Given the description of an element on the screen output the (x, y) to click on. 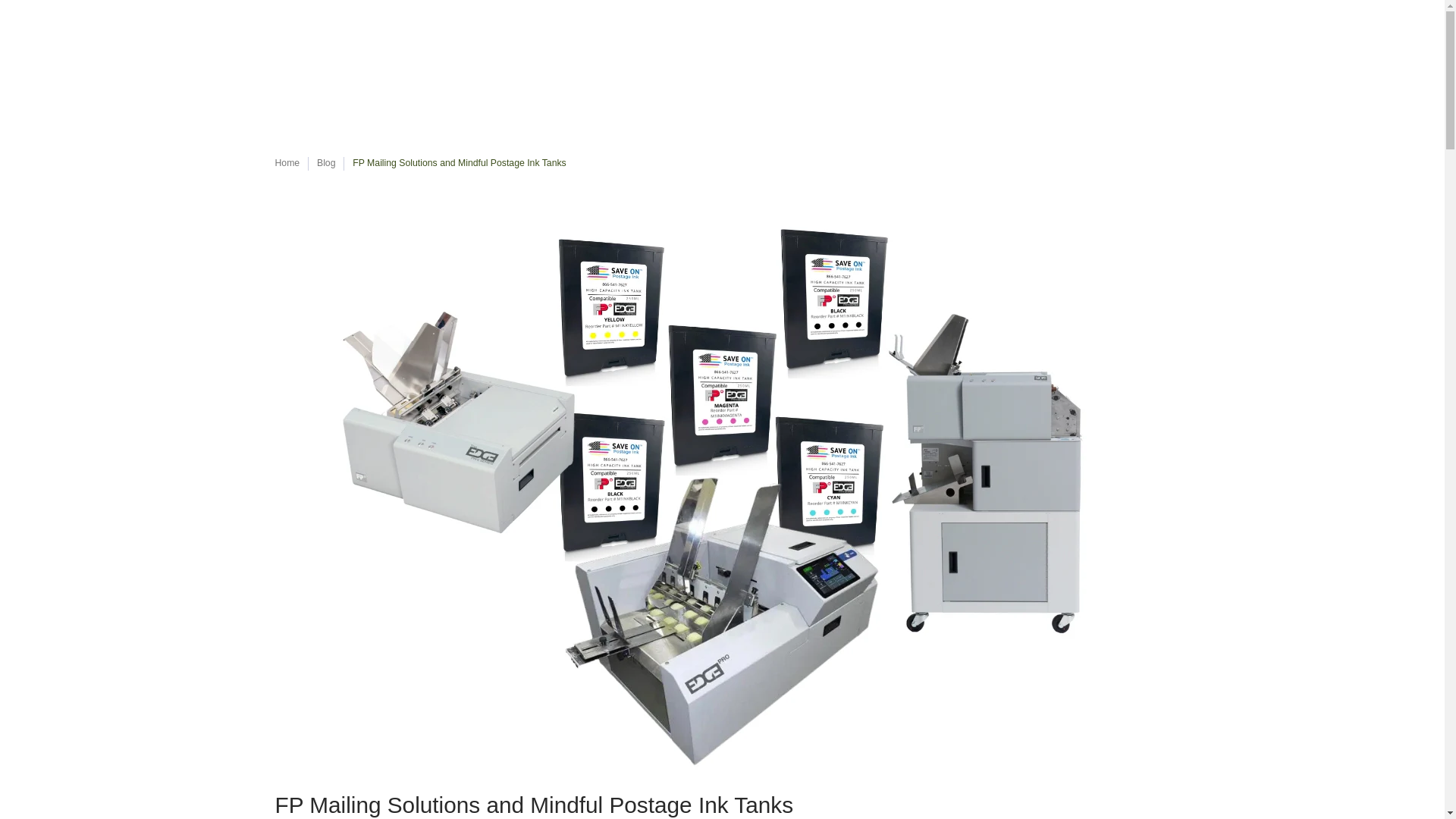
Home (287, 163)
Blog (326, 163)
